Given the description of an element on the screen output the (x, y) to click on. 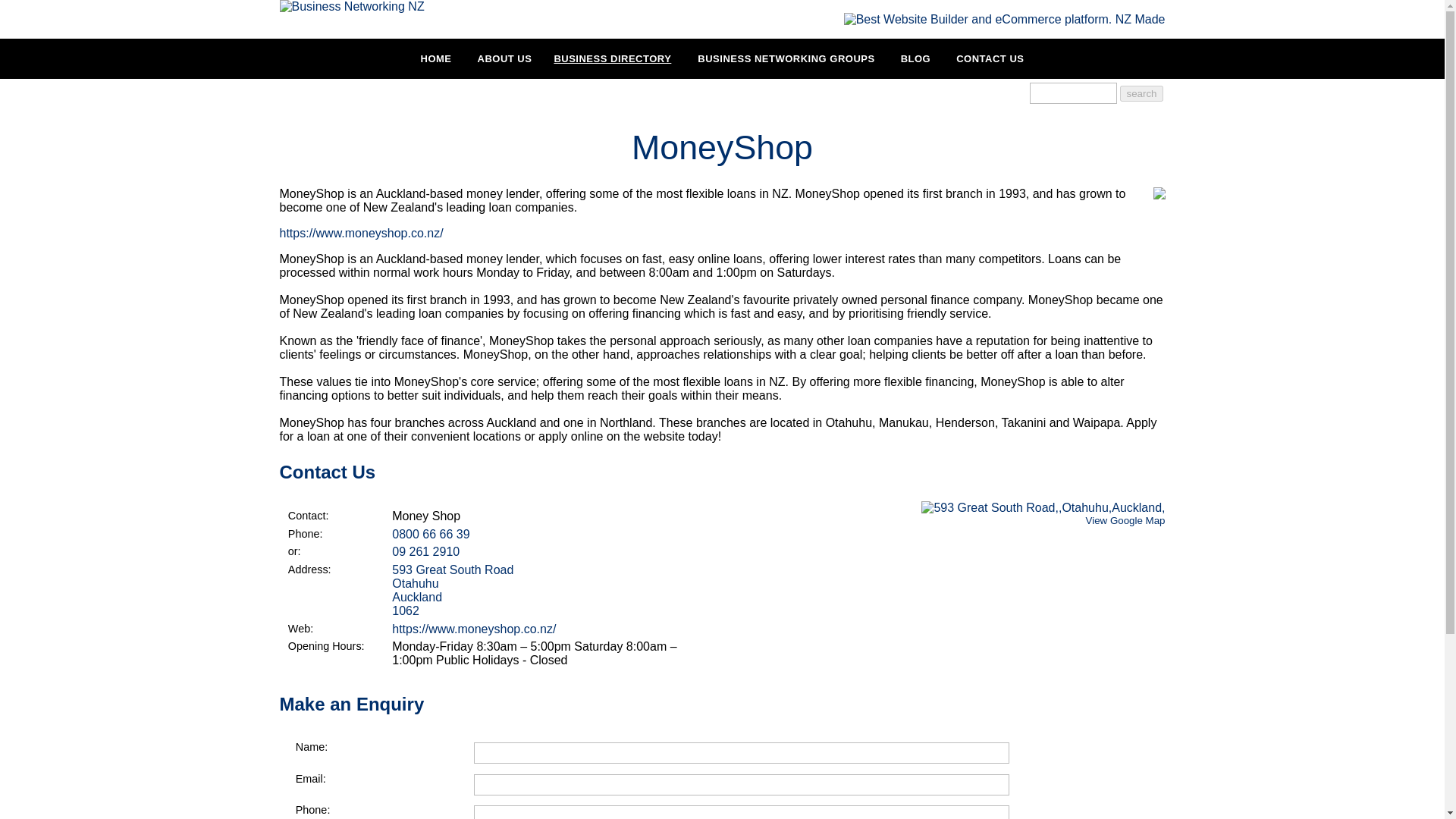
HOME (436, 58)
BLOG (915, 58)
BUSINESS DIRECTORY (611, 58)
MoneyShop (1158, 195)
View Google Map (1126, 520)
593 Great South Road,,Otahuhu,Auckland, (1042, 508)
09 261 2910 (425, 551)
CONTACT US (547, 590)
0800 66 66 39 (989, 58)
